Given the description of an element on the screen output the (x, y) to click on. 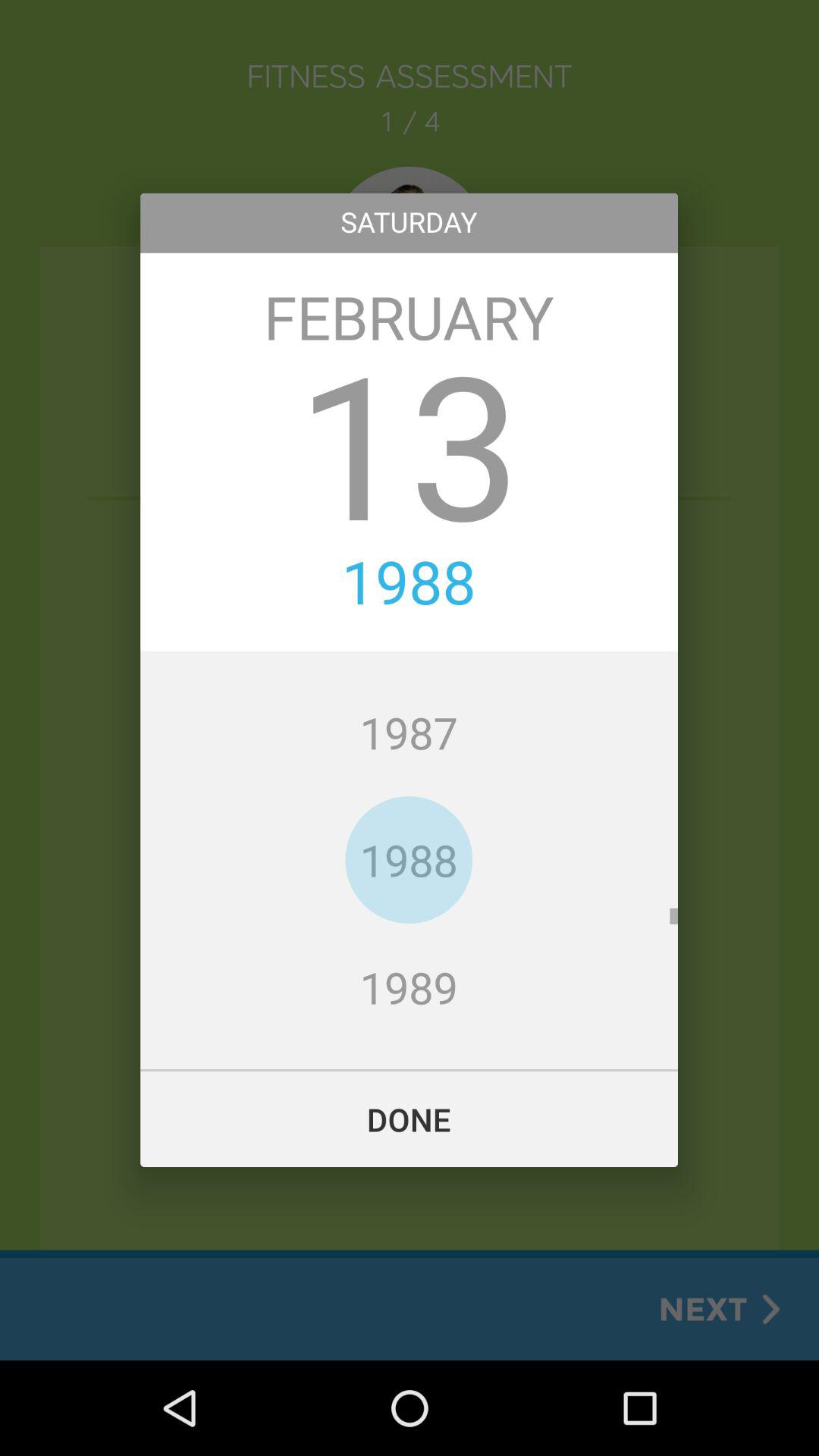
turn on done item (408, 1119)
